Given the description of an element on the screen output the (x, y) to click on. 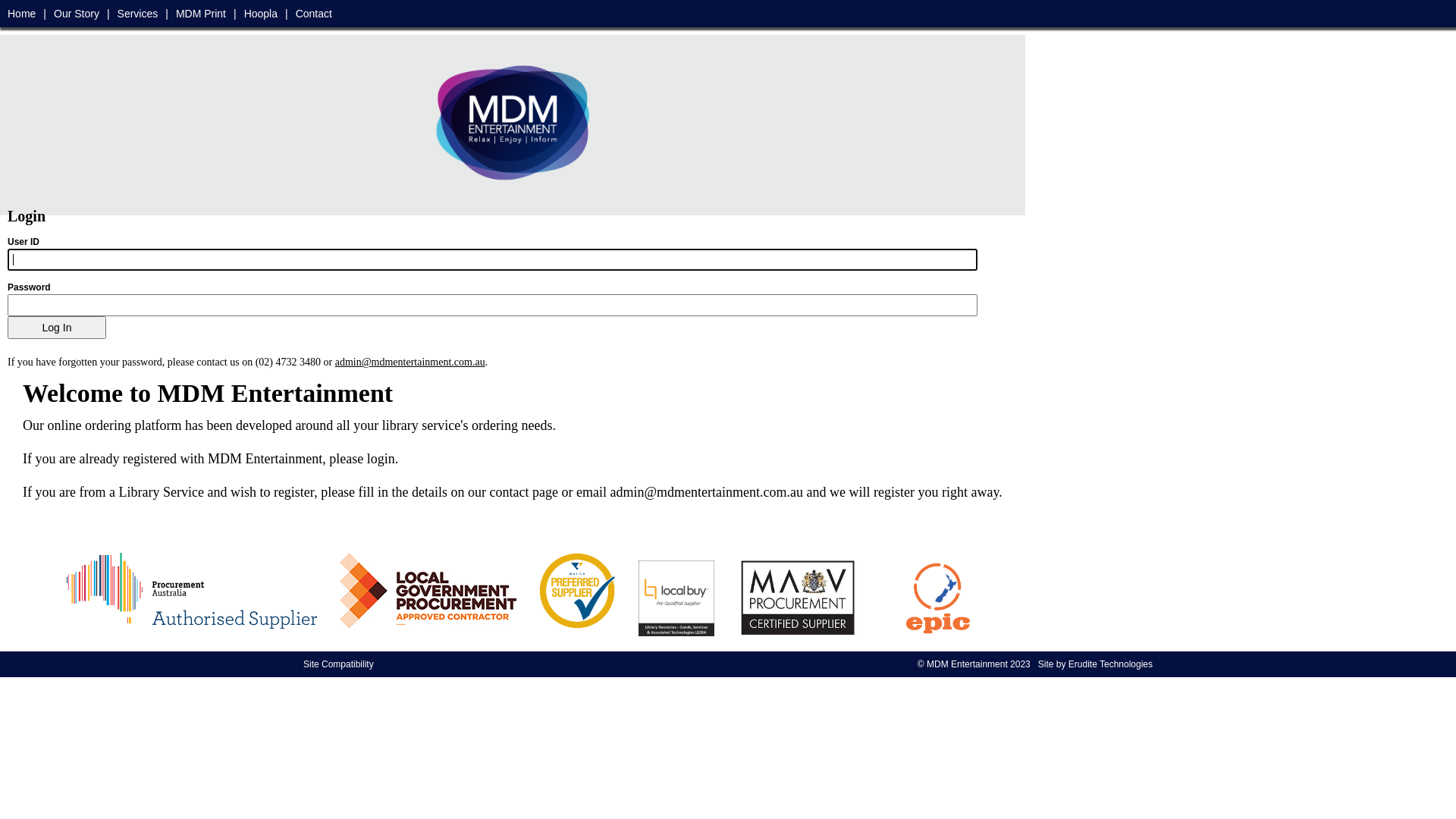
| Element type: text (166, 13)
Services Element type: text (137, 13)
Erudite Technologies Element type: text (1110, 663)
MDM Entertainment Element type: text (966, 663)
MDM Entertainment Homepage Element type: hover (511, 121)
Site Compatibility Element type: text (338, 663)
Hoopla Element type: text (260, 13)
Our Story Element type: text (76, 13)
| Element type: text (234, 13)
Log In Element type: text (56, 327)
| Element type: text (286, 13)
| Element type: text (107, 13)
| Element type: text (44, 13)
admin@mdmentertainment.com.au Element type: text (410, 361)
Home Element type: text (21, 13)
Contact Element type: text (313, 13)
MDM Print Element type: text (200, 13)
